Given the description of an element on the screen output the (x, y) to click on. 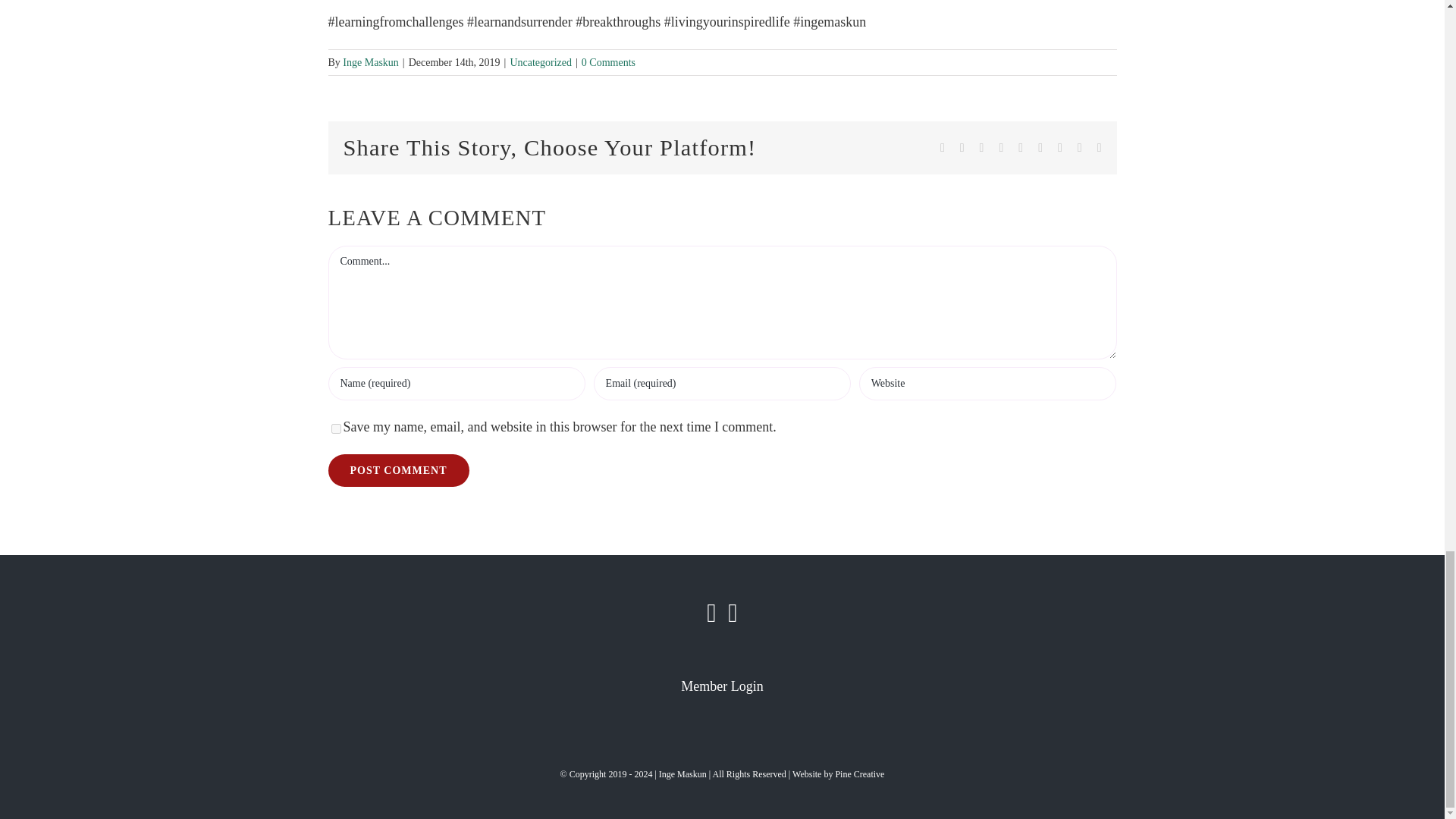
Inge Maskun (370, 61)
Post Comment (397, 470)
Pine Creative (858, 774)
Member Login (721, 685)
0 Comments (607, 61)
Uncategorized (540, 61)
yes (335, 429)
Posts by Inge Maskun (370, 61)
Post Comment (397, 470)
